Given the description of an element on the screen output the (x, y) to click on. 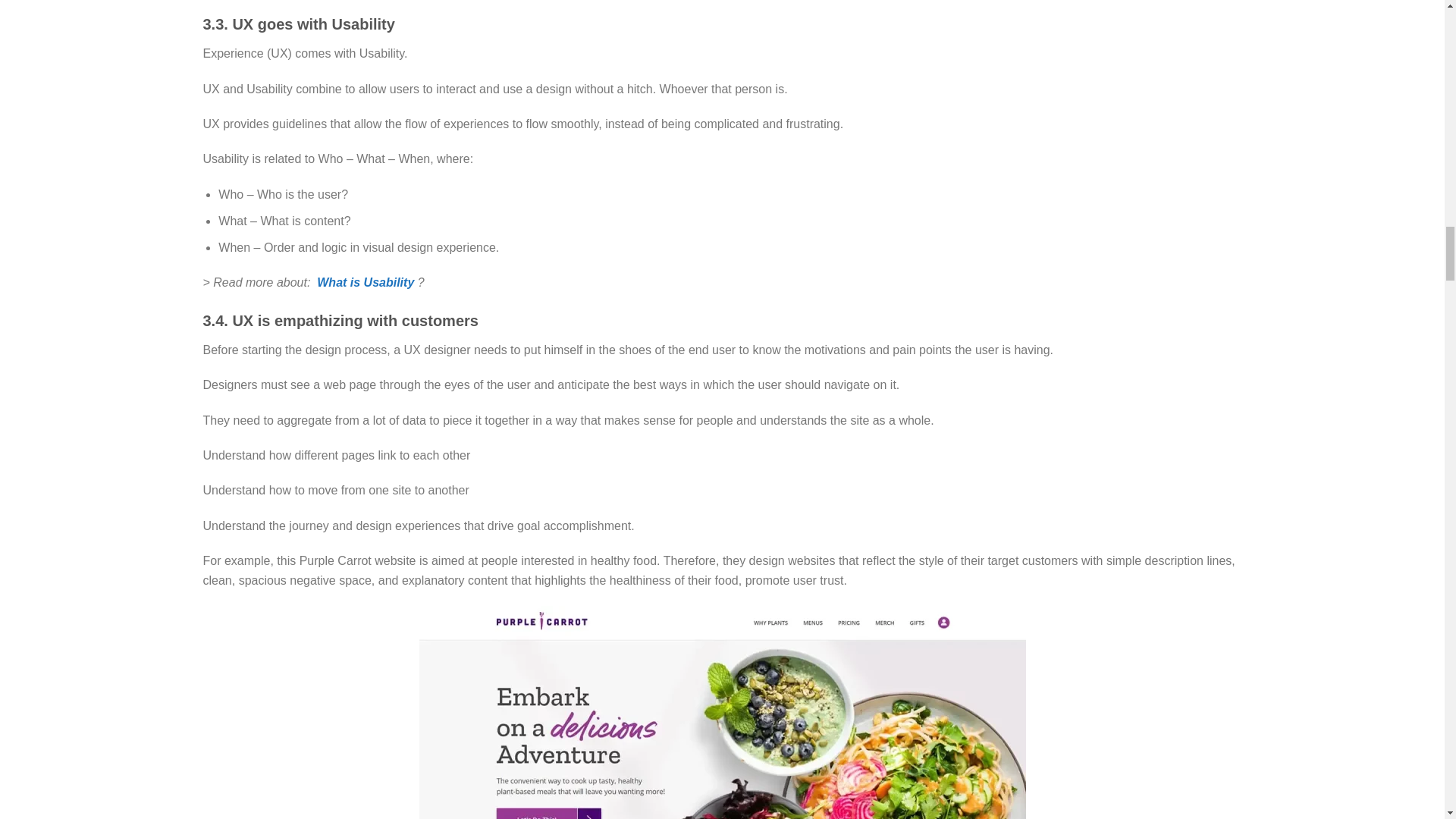
What is Usability (365, 282)
